Given the description of an element on the screen output the (x, y) to click on. 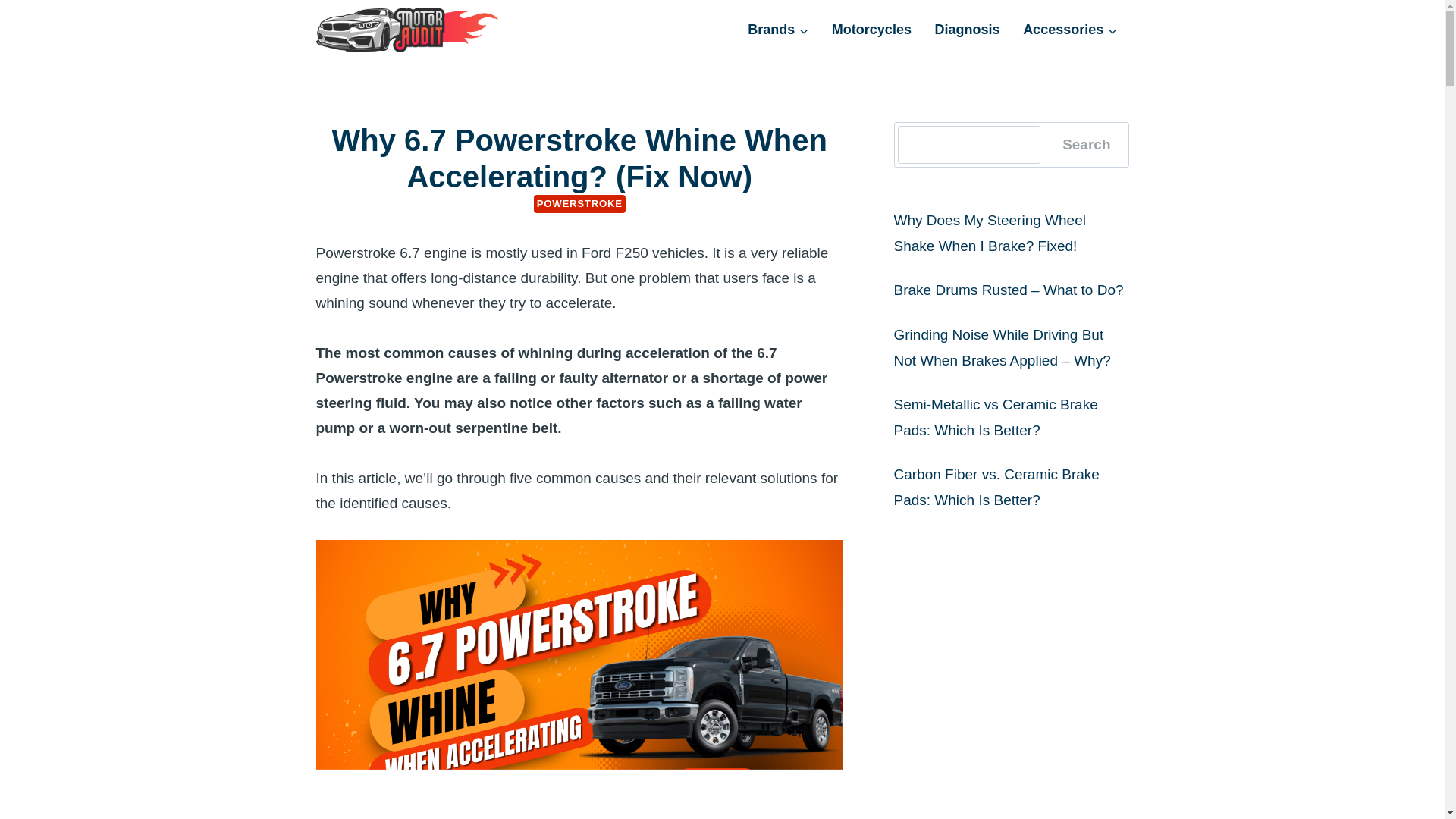
Motorcycles (872, 29)
Search (1086, 144)
Why Does My Steering Wheel Shake When I Brake? Fixed! (988, 232)
Diagnosis (967, 29)
POWERSTROKE (580, 203)
Accessories (1070, 29)
Brands (778, 29)
